Given the description of an element on the screen output the (x, y) to click on. 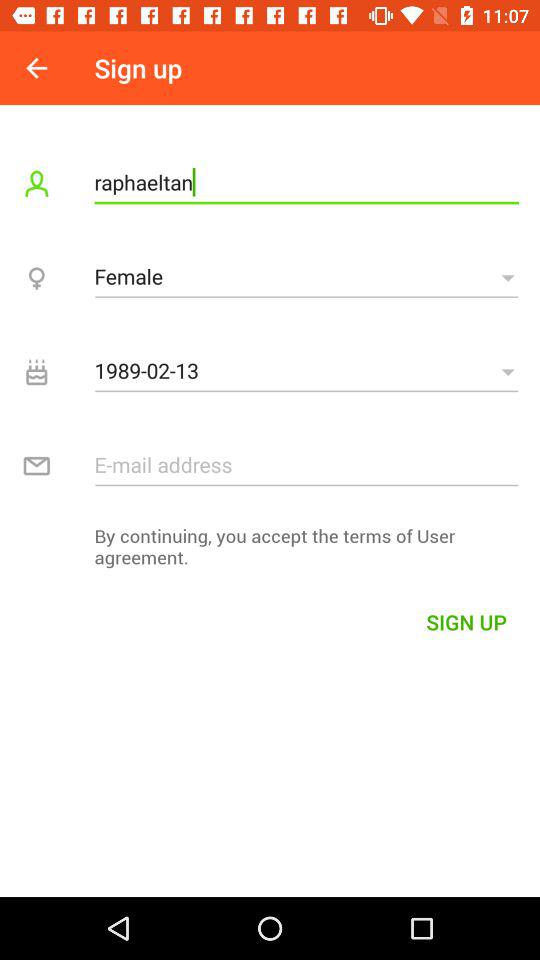
open item below sign up item (306, 181)
